Given the description of an element on the screen output the (x, y) to click on. 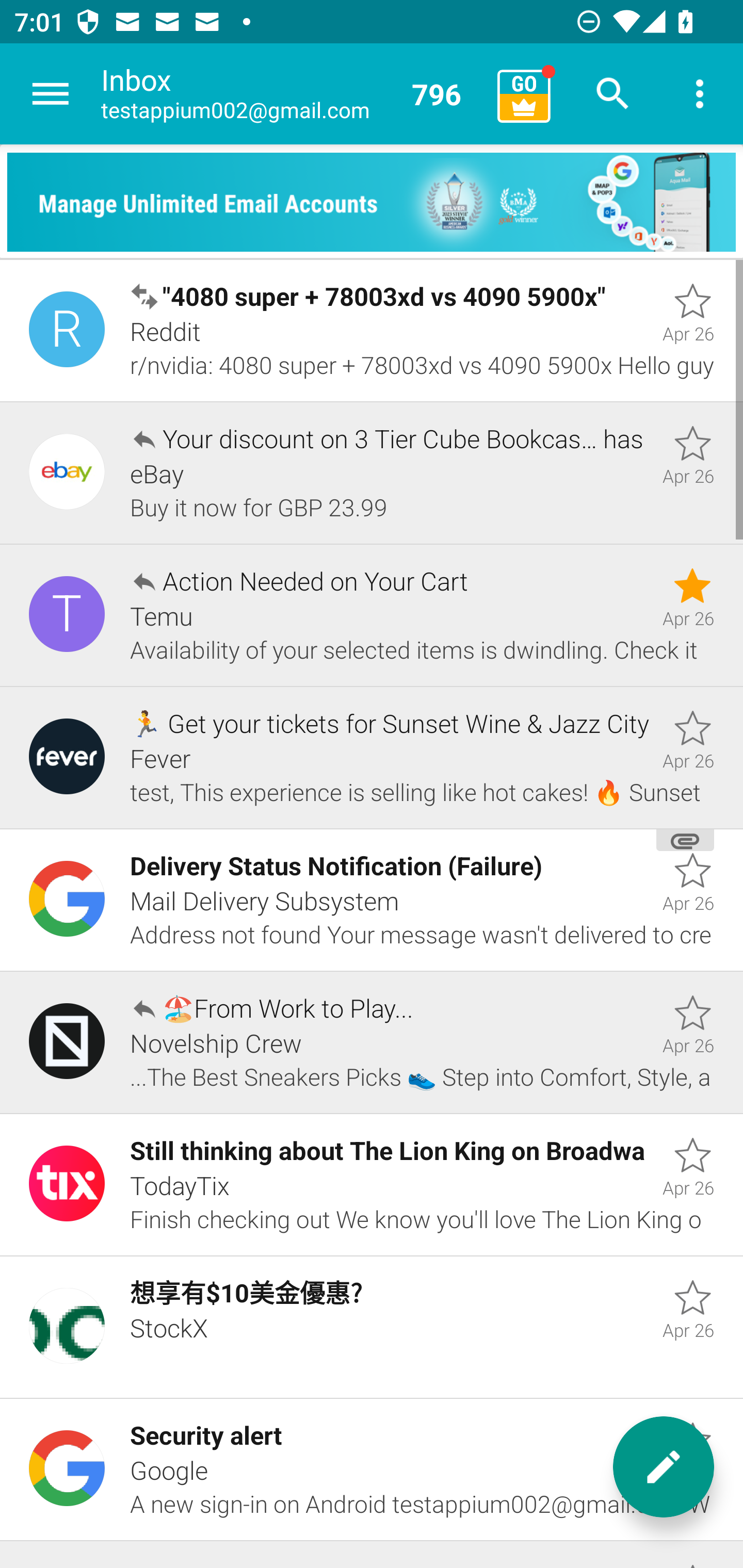
Navigate up (50, 93)
Inbox testappium002@gmail.com 796 (291, 93)
Search (612, 93)
More options (699, 93)
Unread, 想享有$10美金優惠?, StockX, Apr 26 (371, 1326)
New message (663, 1466)
